Given the description of an element on the screen output the (x, y) to click on. 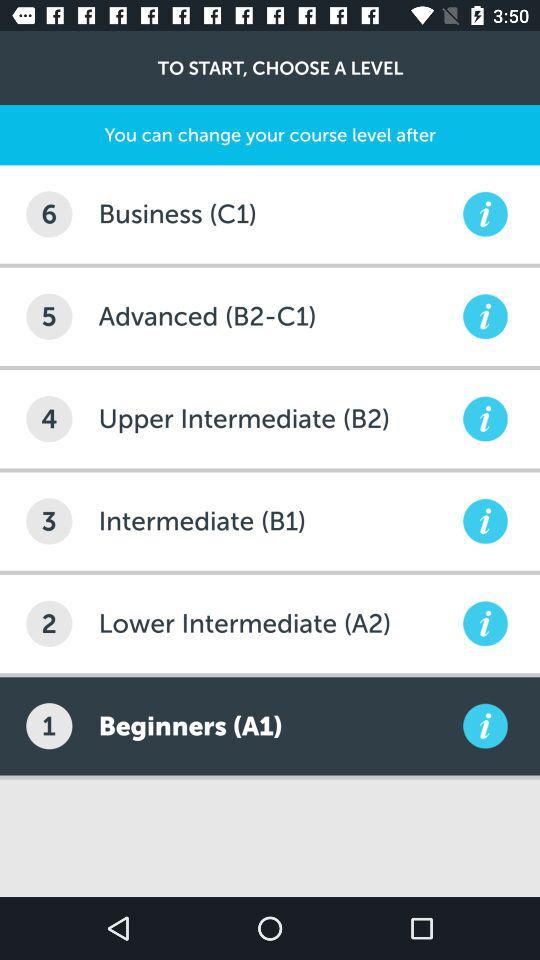
turn on the item to the right of the 2 item (277, 623)
